Given the description of an element on the screen output the (x, y) to click on. 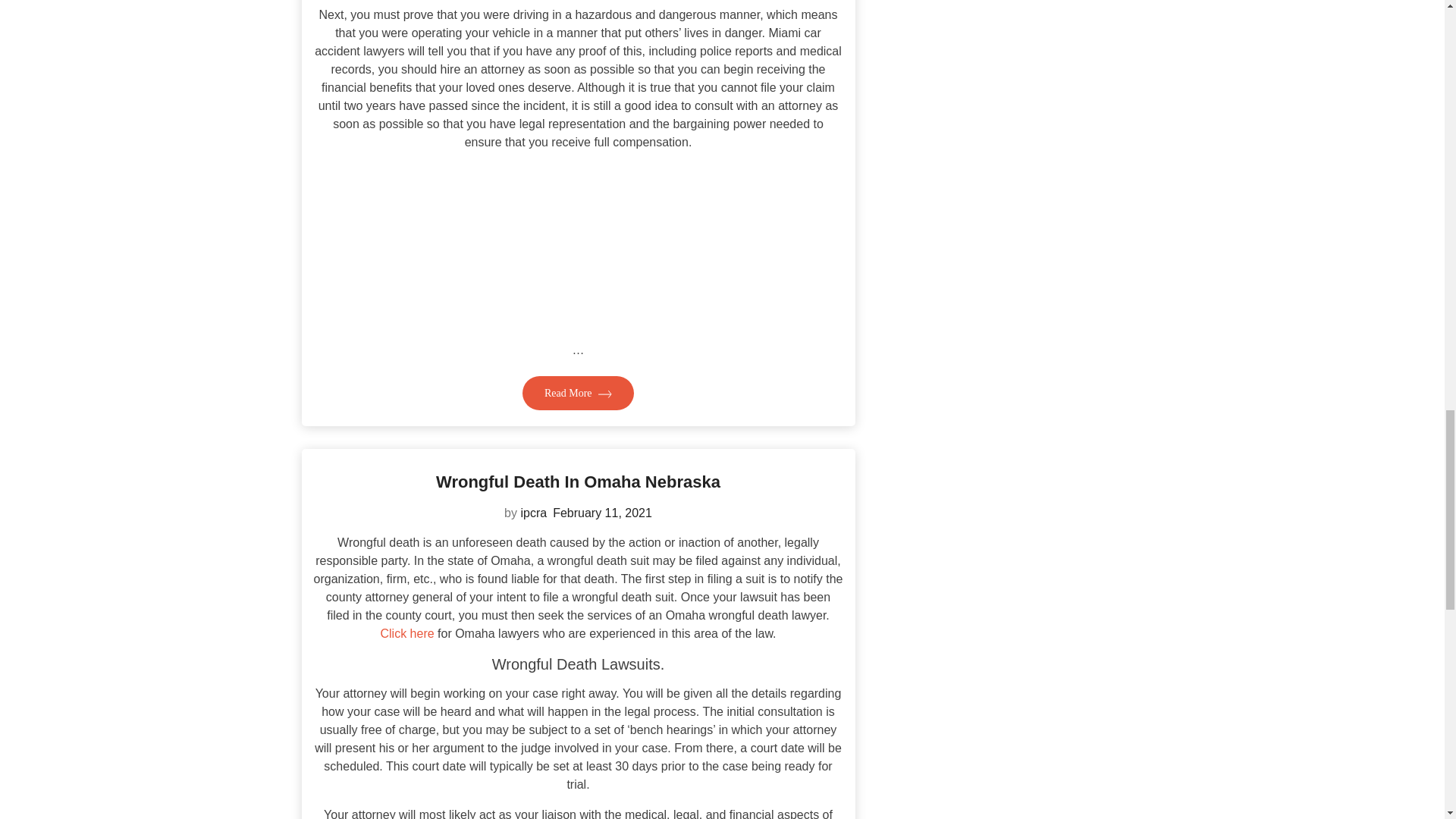
February 11, 2021 (602, 512)
Read More (577, 392)
ipcra (533, 512)
Wrongful Death In Omaha Nebraska (577, 481)
